Given the description of an element on the screen output the (x, y) to click on. 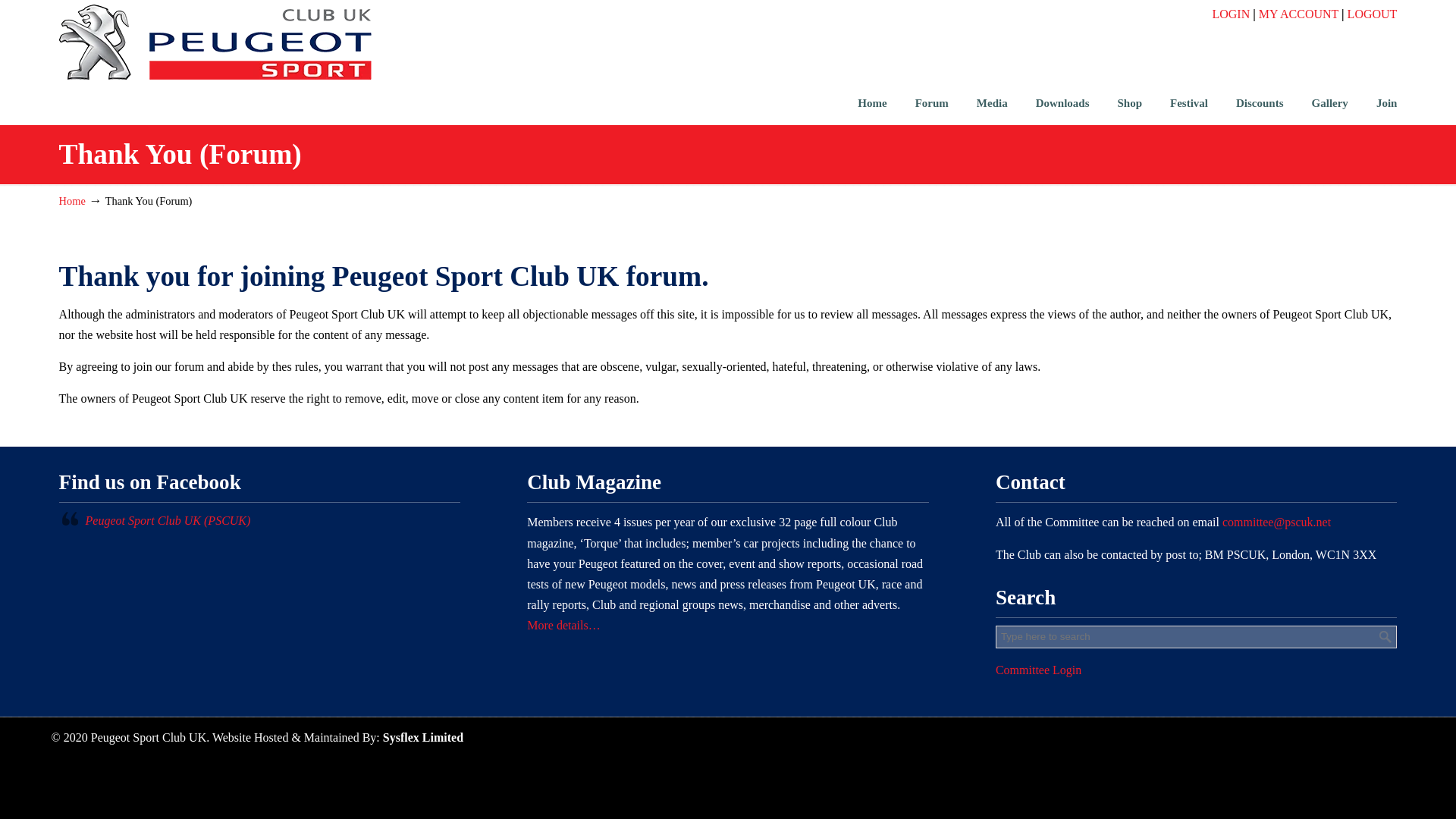
Home (872, 102)
MY ACCOUNT (1298, 13)
Shop (1129, 102)
Downloads (1062, 102)
Peugeot Sport Club UK (215, 42)
Join (1386, 102)
Home (72, 200)
Peugeot Sport Club UK (215, 42)
LOGOUT (1372, 13)
Forum (931, 102)
